Given the description of an element on the screen output the (x, y) to click on. 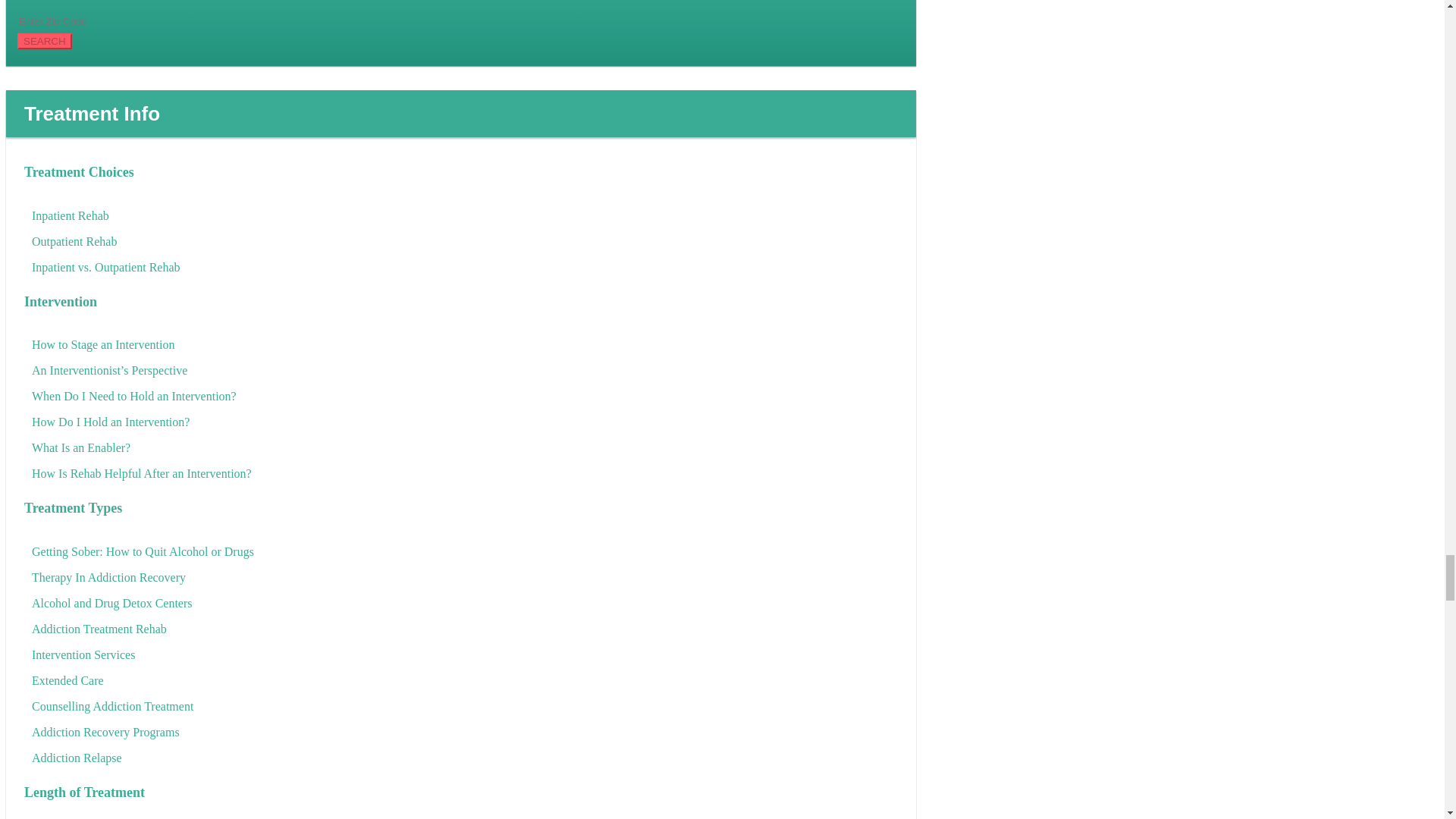
Inpatient Rehab (465, 216)
Outpatient Rehab (465, 241)
When Do I Need to Hold an Intervention? (465, 396)
Intervention (461, 301)
Treatment Choices (461, 172)
Addiction Treatment Rehab (465, 629)
Extended Care (465, 680)
Intervention Services (465, 655)
Getting Sober: How to Quit Alcohol or Drugs (465, 551)
Inpatient vs. Outpatient Rehab (465, 267)
How Is Rehab Helpful After an Intervention? (465, 474)
Addiction Relapse (465, 758)
How to Stage an Intervention (465, 344)
Counselling Addiction Treatment (465, 706)
Addiction Recovery Programs (465, 732)
